Given the description of an element on the screen output the (x, y) to click on. 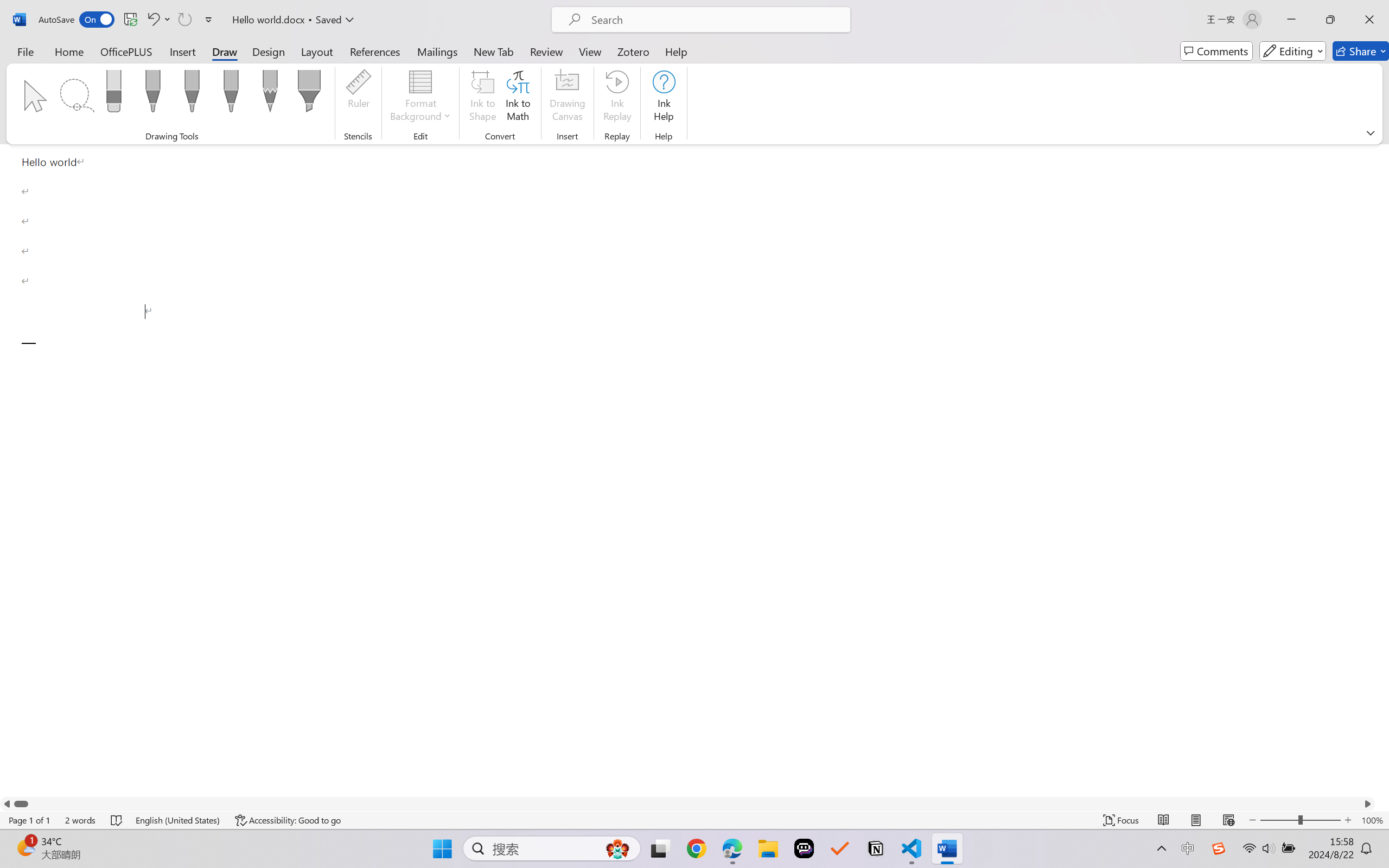
Draw (224, 51)
New Tab (493, 51)
OfficePLUS (126, 51)
Ink Replay (617, 97)
Home (69, 51)
Drawing Canvas (567, 97)
Column right (1368, 803)
References (375, 51)
Page right (694, 803)
Class: NetUIScrollBar (687, 803)
Pen: Galaxy, 1 mm (230, 94)
Help (675, 51)
